Given the description of an element on the screen output the (x, y) to click on. 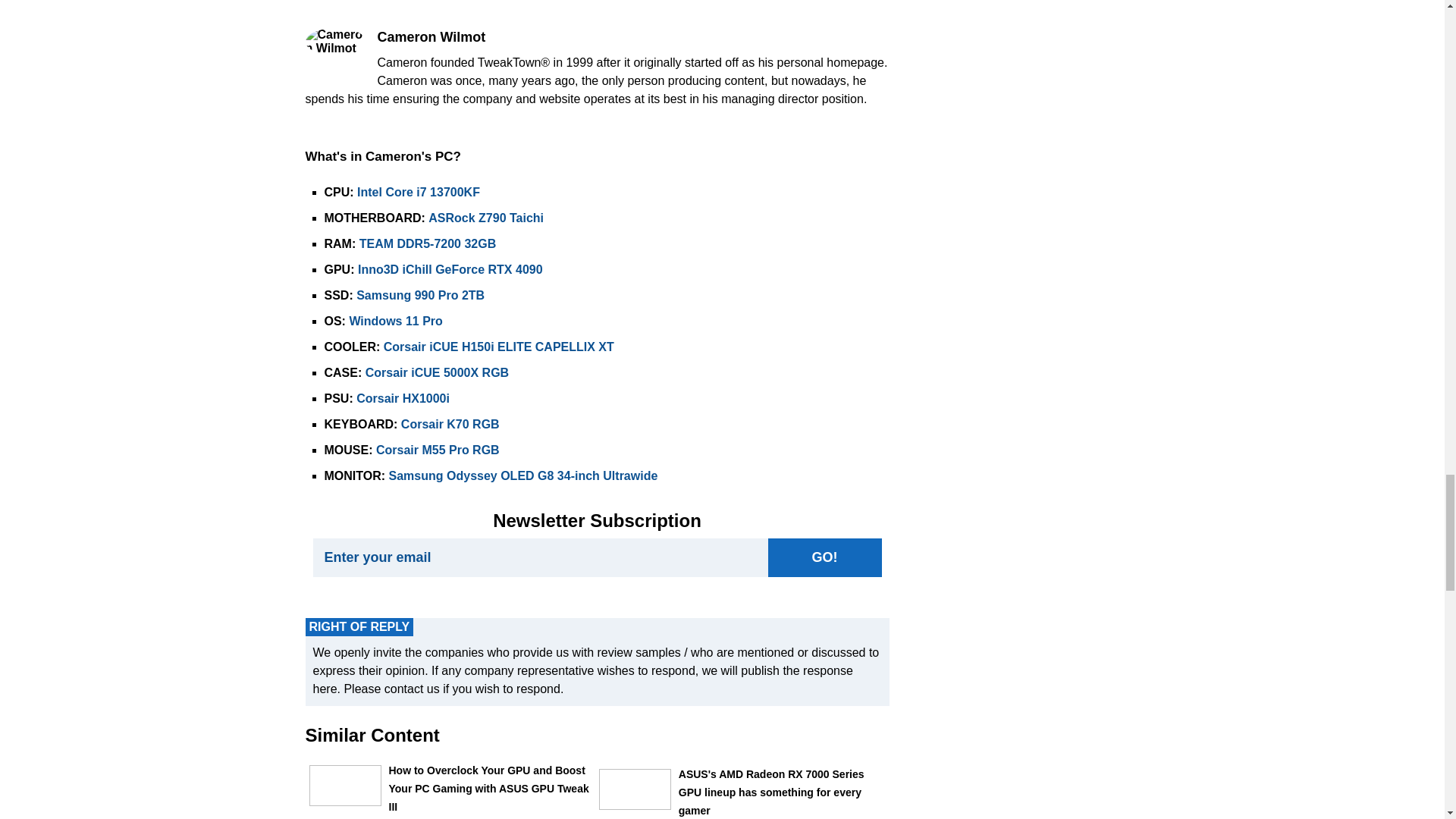
Buy at Amazon (418, 192)
Buy at Amazon (420, 295)
Buy at Amazon (499, 346)
Cameron Wilmot (334, 41)
Buy at Amazon (427, 243)
Buy at Amazon (395, 320)
GO! (823, 557)
Buy at Amazon (485, 217)
Buy at Amazon (436, 372)
Buy at Amazon (450, 269)
